Given the description of an element on the screen output the (x, y) to click on. 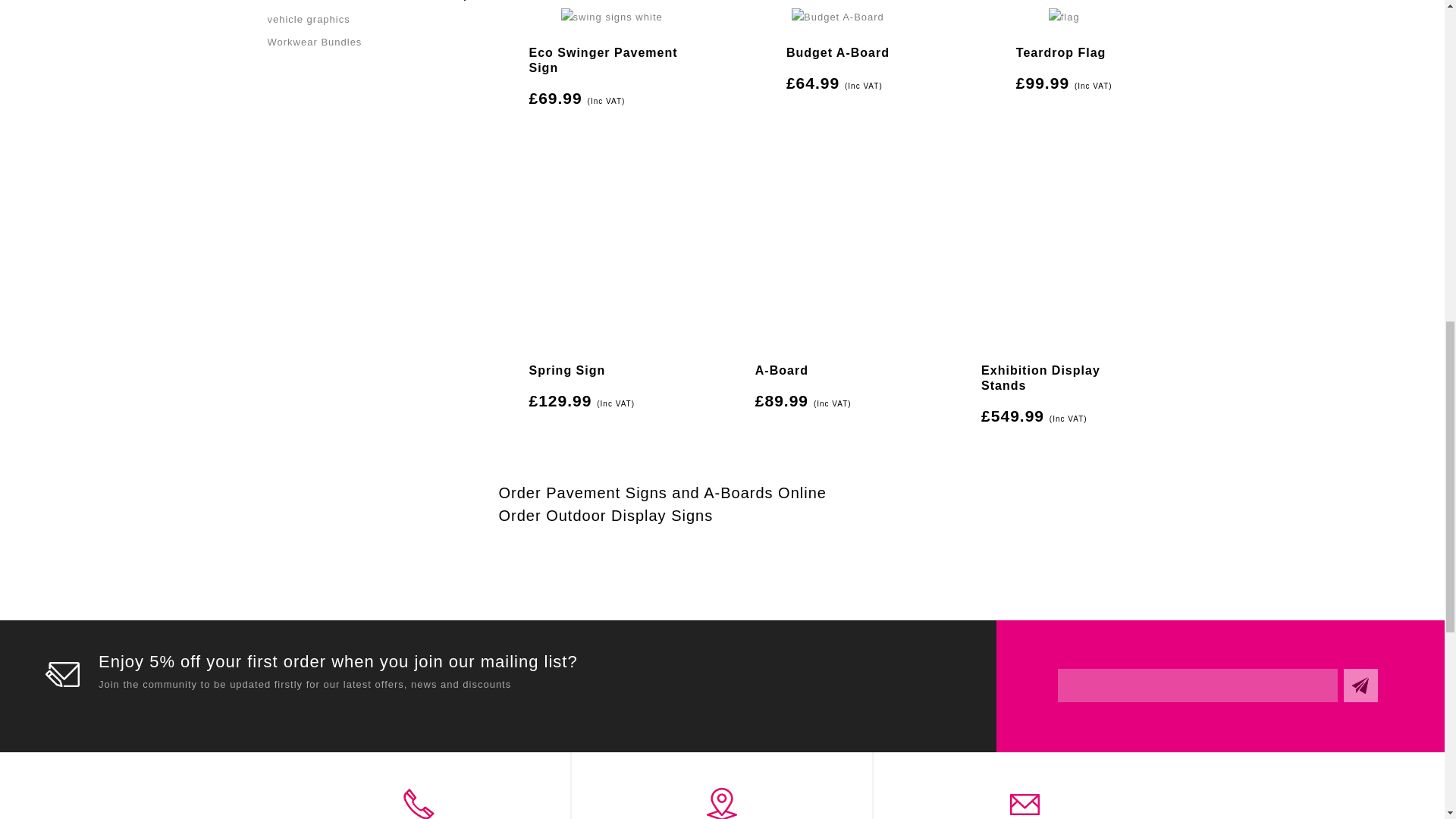
Subscribe (1360, 685)
